Given the description of an element on the screen output the (x, y) to click on. 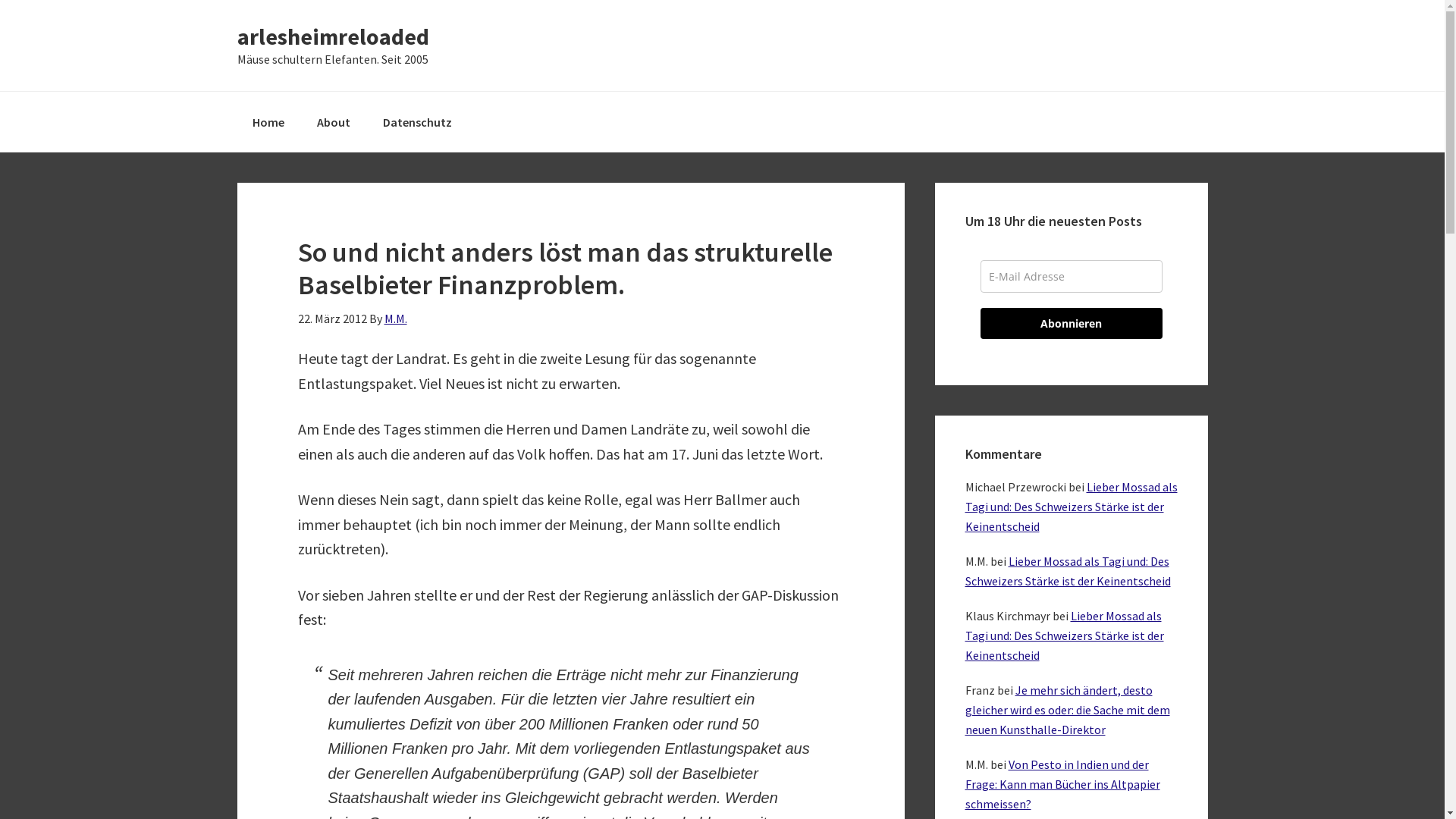
Home Element type: text (267, 121)
M.M. Element type: text (394, 318)
Abonnieren Element type: text (1070, 322)
Zur Hauptnavigation springen Element type: text (0, 0)
Datenschutz Element type: text (416, 121)
arlesheimreloaded Element type: text (332, 35)
About Element type: text (333, 121)
